Given the description of an element on the screen output the (x, y) to click on. 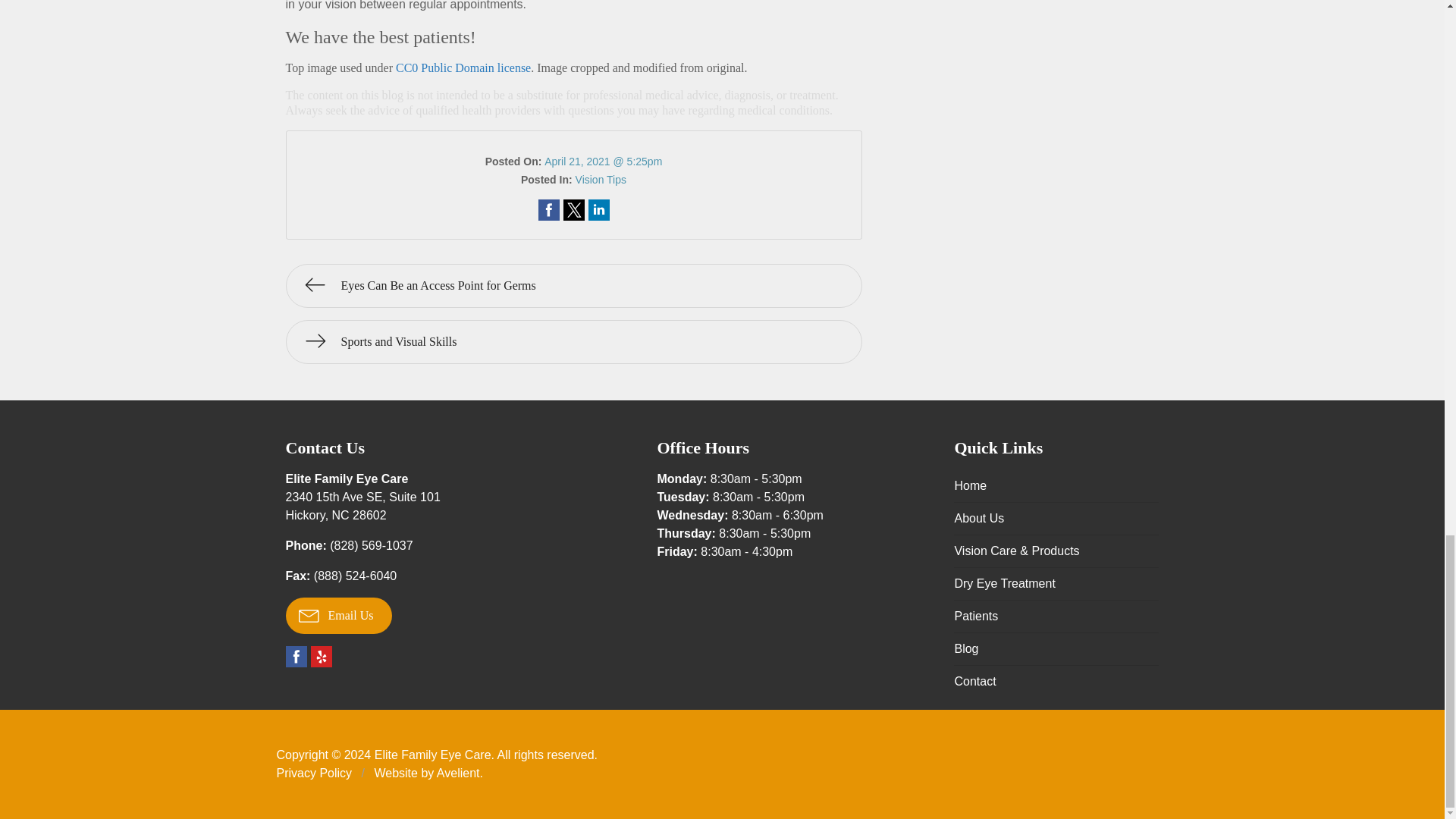
Share on LinkedIn (599, 209)
Sports and Visual Skills (573, 341)
Home (1055, 485)
Contact practice (371, 545)
Share on Facebook (548, 209)
Share on LinkedIn (599, 209)
Go to our Yelp Page (321, 656)
Share on Twitter (572, 209)
Open this address in Google Maps (362, 505)
Vision Tips (600, 179)
Eyes Can Be an Access Point for Germs (573, 285)
Go to our Facebook Page (295, 656)
Powered by Avelient (362, 505)
Share on Twitter (458, 772)
